Given the description of an element on the screen output the (x, y) to click on. 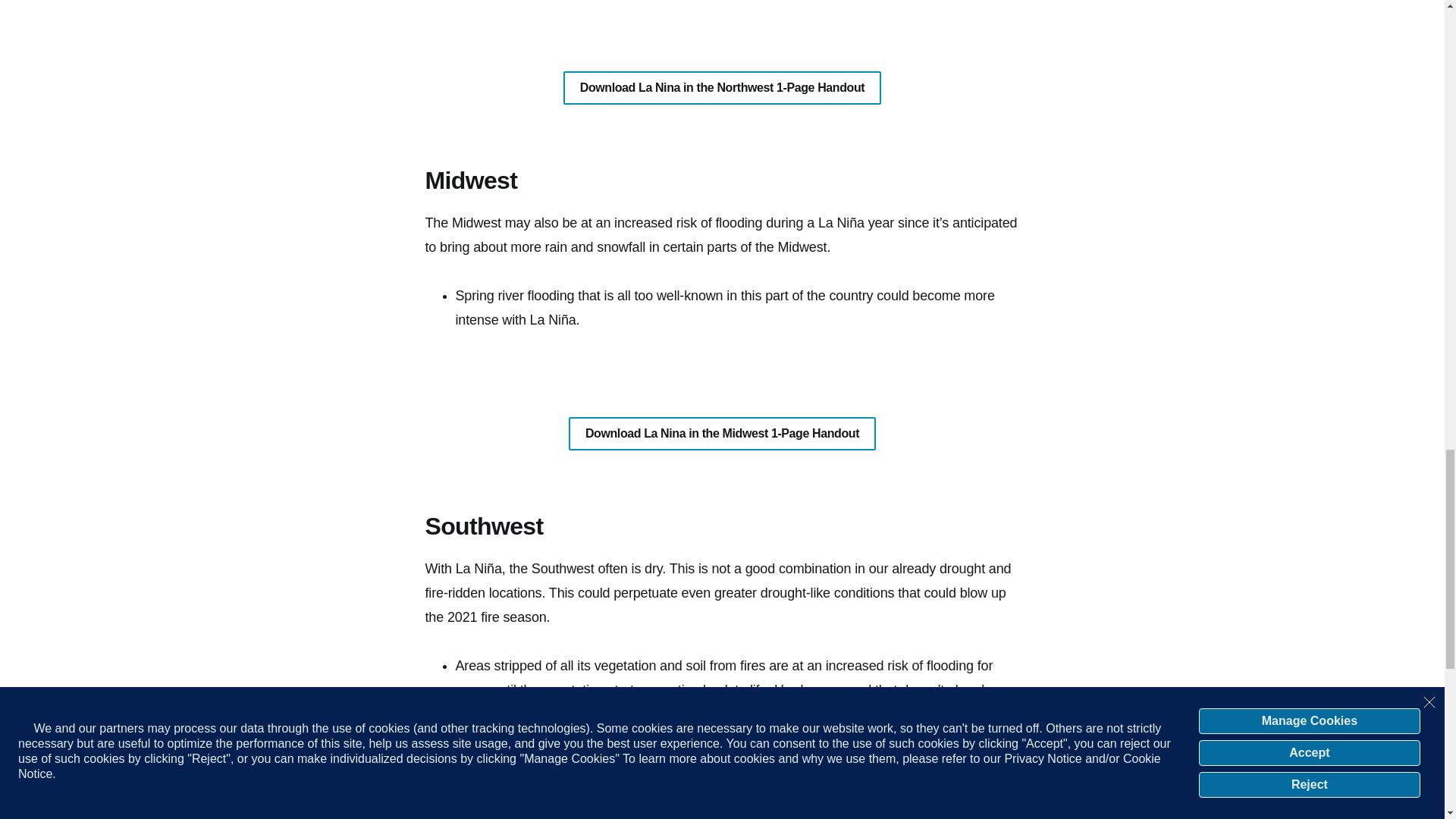
Download La Nina in the Northwest 1-Page Handout (722, 87)
Download La Nina in the Southwest 1-Page Handout (722, 815)
Download La Nina in the Midwest 1-Page Handout (722, 433)
